Given the description of an element on the screen output the (x, y) to click on. 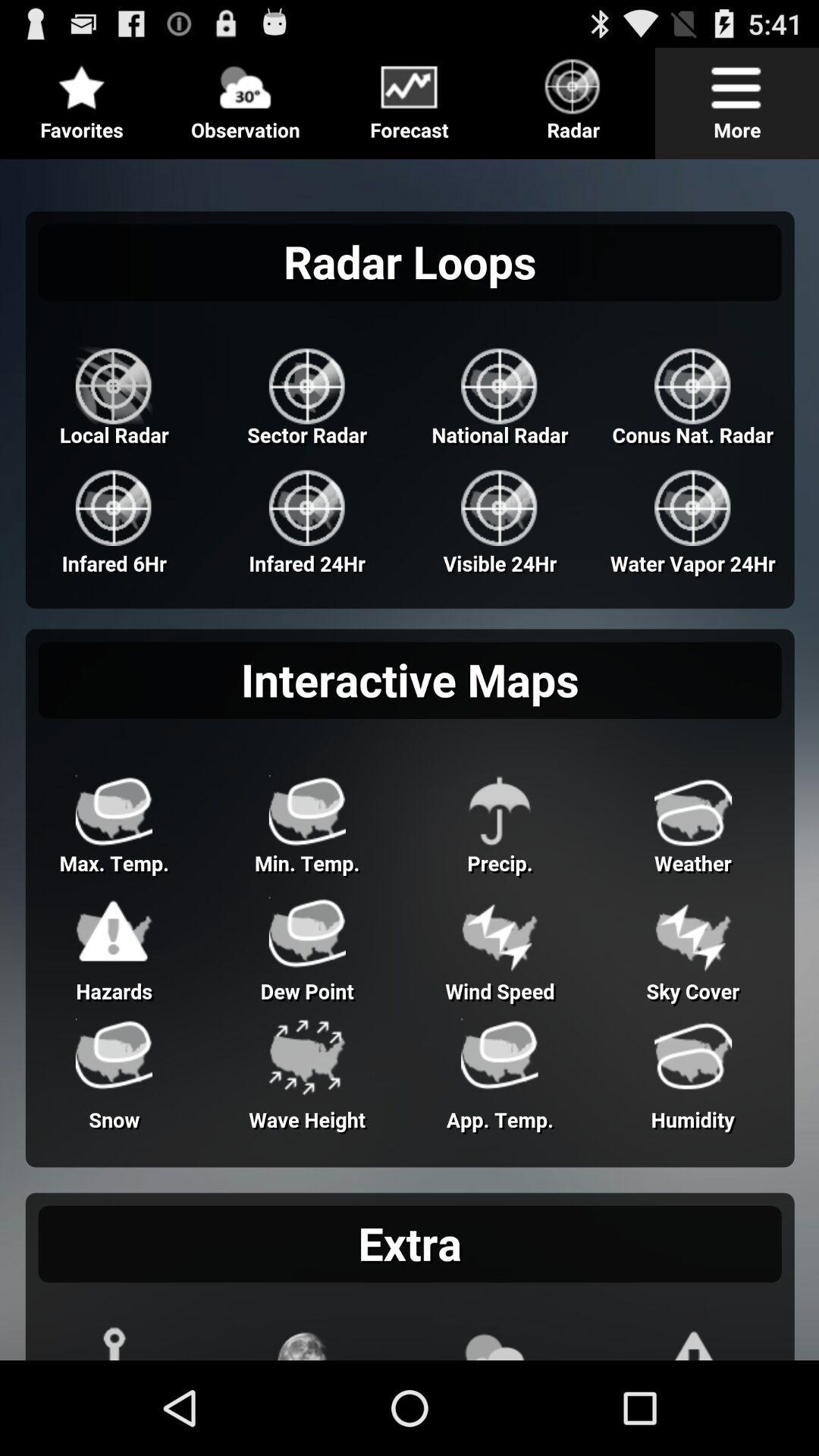
icon page (409, 97)
